Given the description of an element on the screen output the (x, y) to click on. 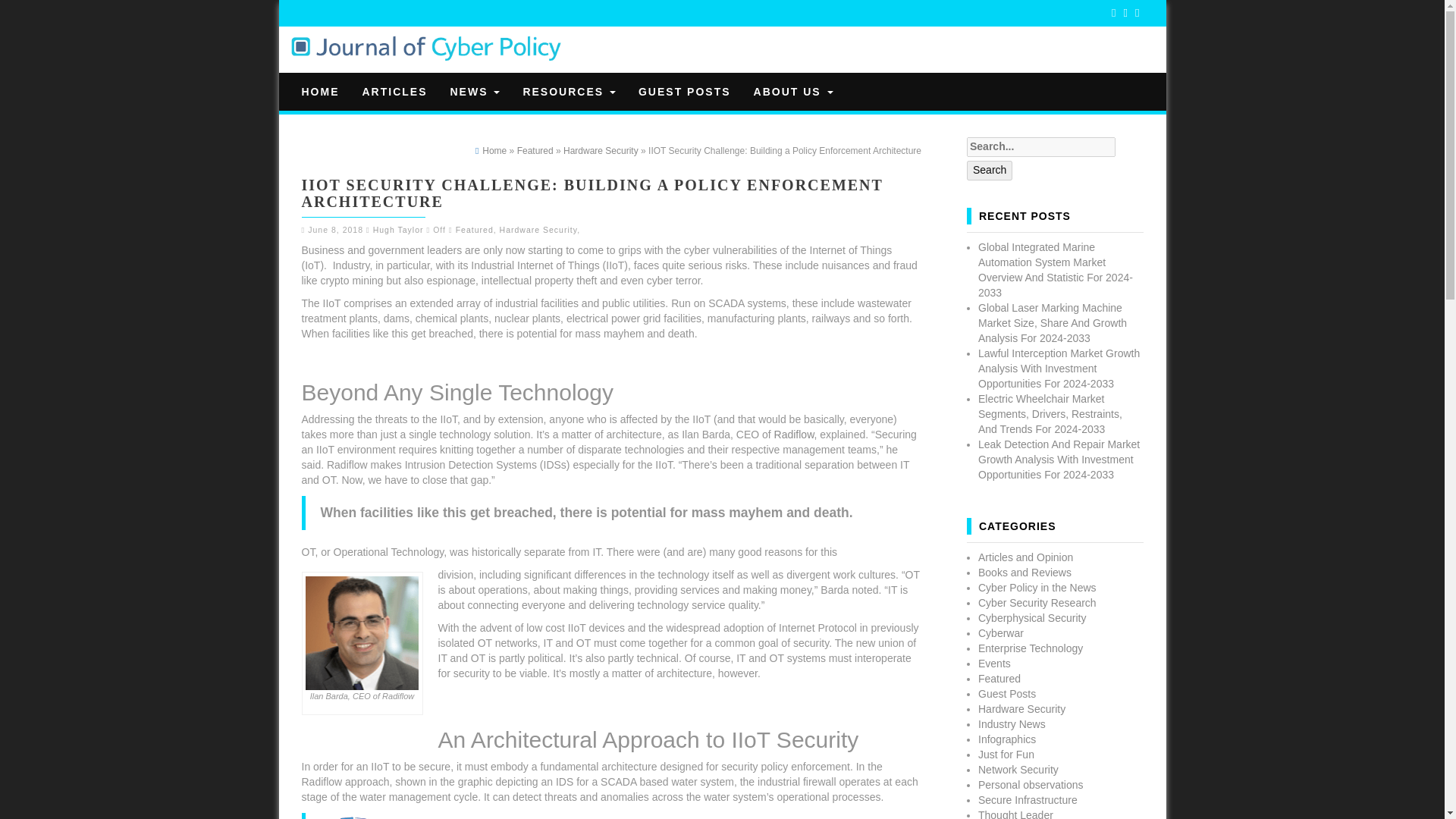
GUEST POSTS (684, 91)
Radiflow (793, 434)
NEWS (474, 91)
ARTICLES (394, 91)
RESOURCES (569, 91)
HOME (319, 91)
Guest Posts (684, 91)
Search (988, 170)
Journal of Cyber Policy (425, 49)
About Us (793, 91)
Featured (474, 229)
Featured (534, 150)
Articles (394, 91)
Hugh Taylor (397, 229)
Search (988, 170)
